Given the description of an element on the screen output the (x, y) to click on. 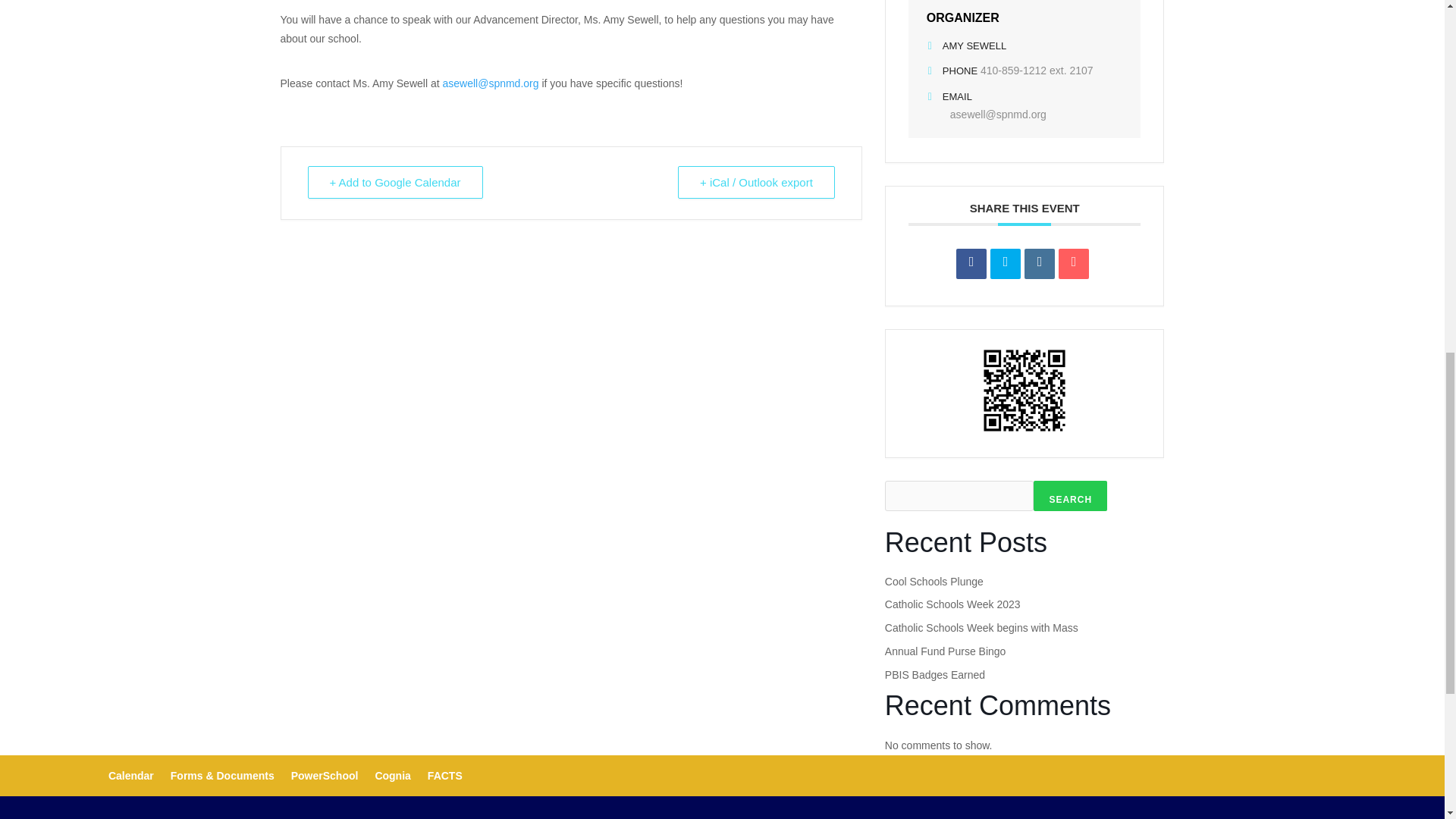
Email (1073, 263)
Linkedin (1039, 263)
Tweet (1005, 263)
Share on Facebook (971, 263)
